Given the description of an element on the screen output the (x, y) to click on. 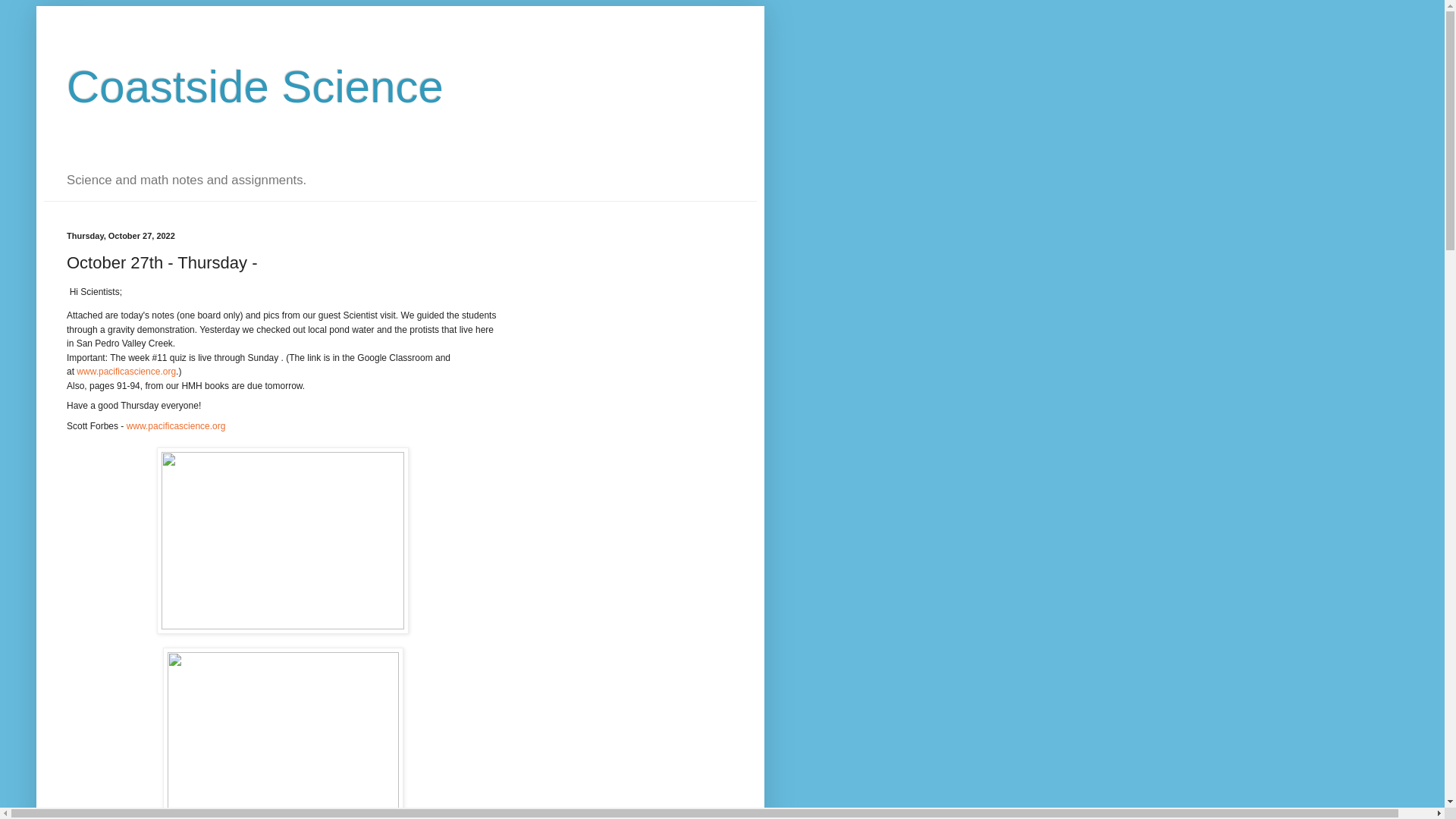
www.pacificascience.org (175, 425)
www.pacificascience.org (126, 371)
Coastside Science (255, 86)
